Given the description of an element on the screen output the (x, y) to click on. 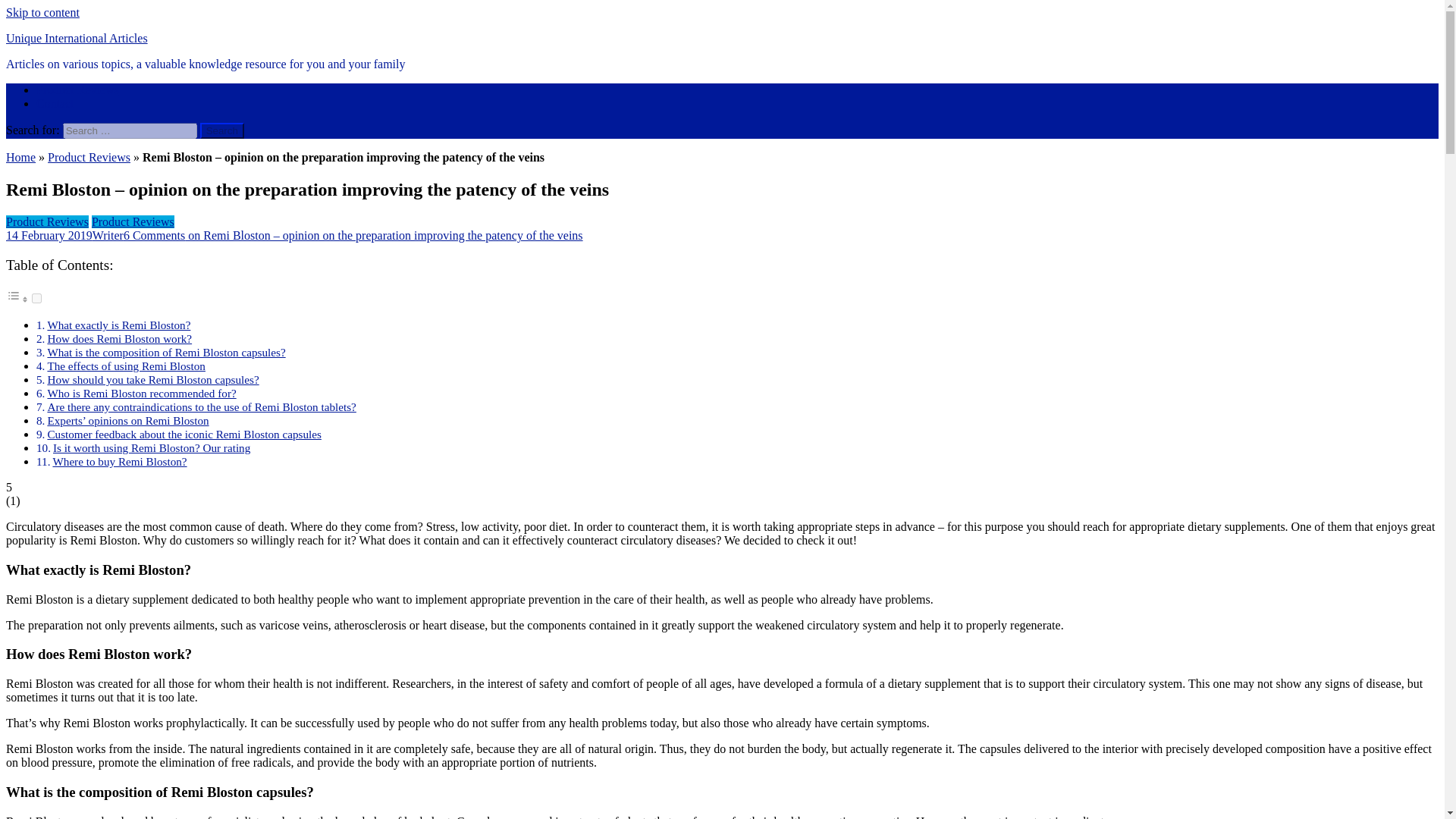
Product Reviews (77, 89)
Home (19, 156)
Who is Remi Bloston recommended for? (140, 392)
Product Reviews (132, 221)
Search (222, 130)
Where to buy Remi Bloston? (119, 461)
What exactly is Remi Bloston? (118, 324)
14 February 2019 (49, 235)
The effects of using Remi Bloston (125, 365)
